Given the description of an element on the screen output the (x, y) to click on. 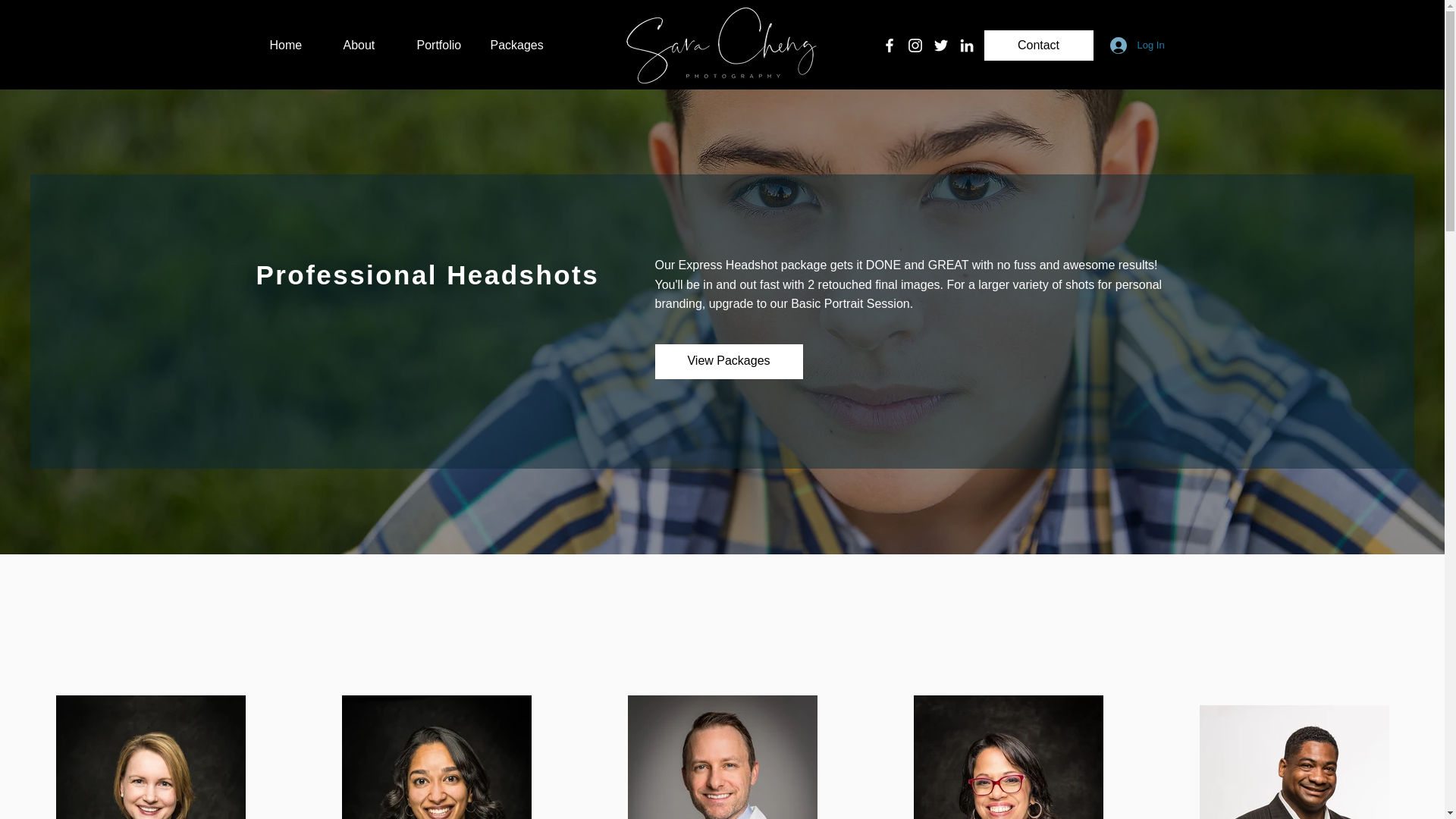
Home (294, 44)
Log In (1128, 45)
About (368, 44)
View Packages (729, 361)
Packages (516, 44)
Contact (1038, 45)
